Given the description of an element on the screen output the (x, y) to click on. 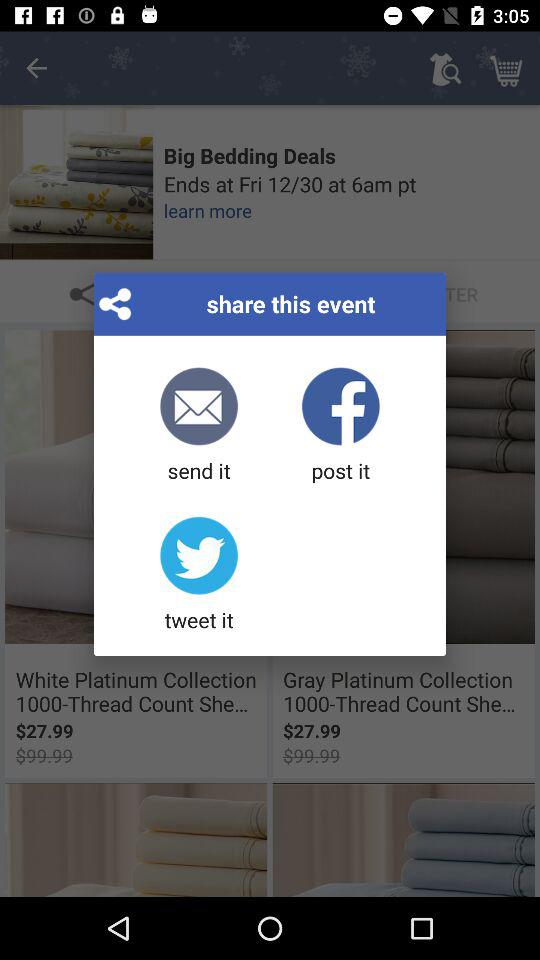
click send it item (198, 425)
